Given the description of an element on the screen output the (x, y) to click on. 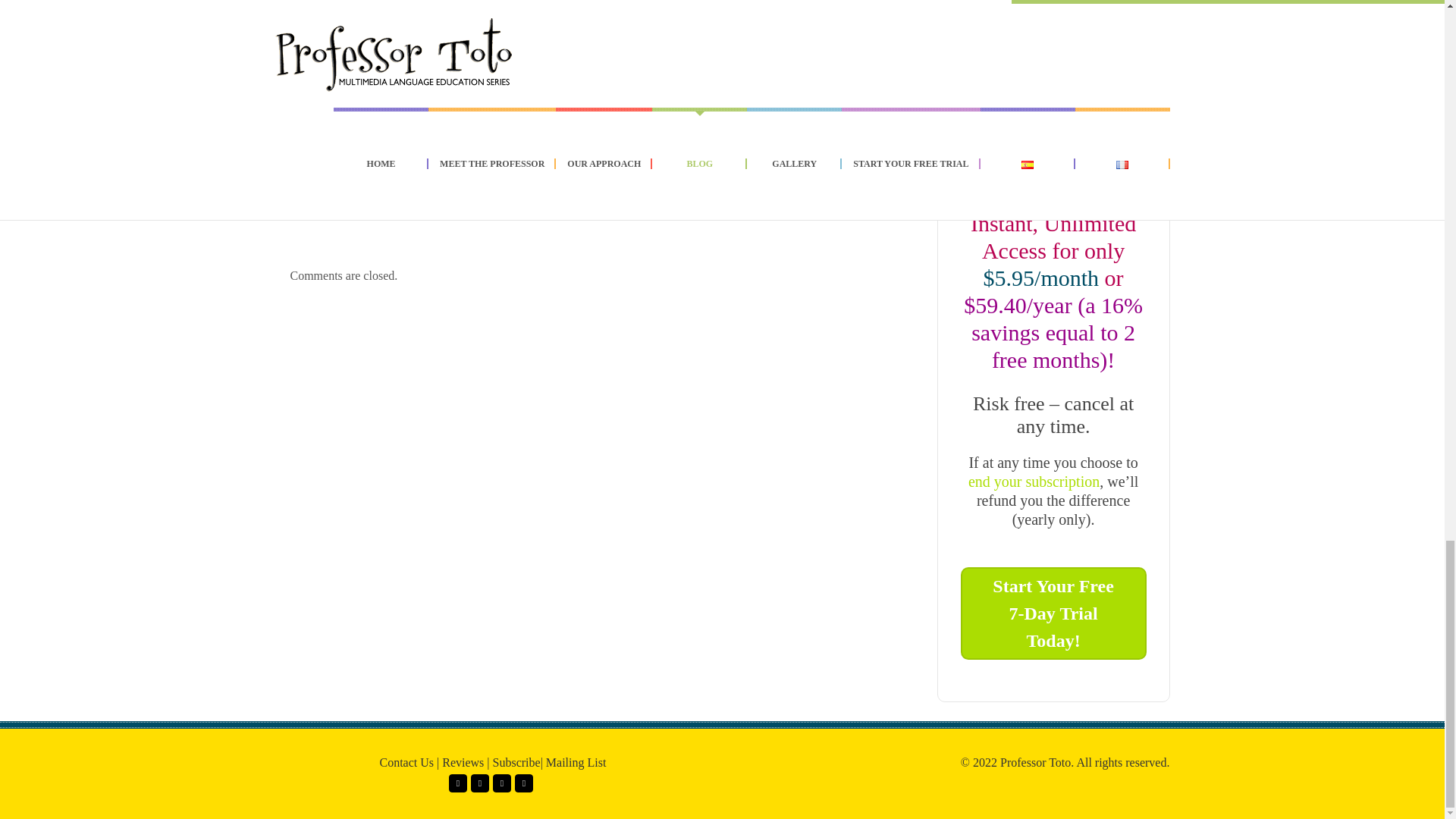
3 Ways to Bring Language Learning to Game Night (370, 153)
Make This the Summer of Multicultural Cuisine  (560, 153)
Understanding the Theory Behind Immersion Learning (752, 163)
